Given the description of an element on the screen output the (x, y) to click on. 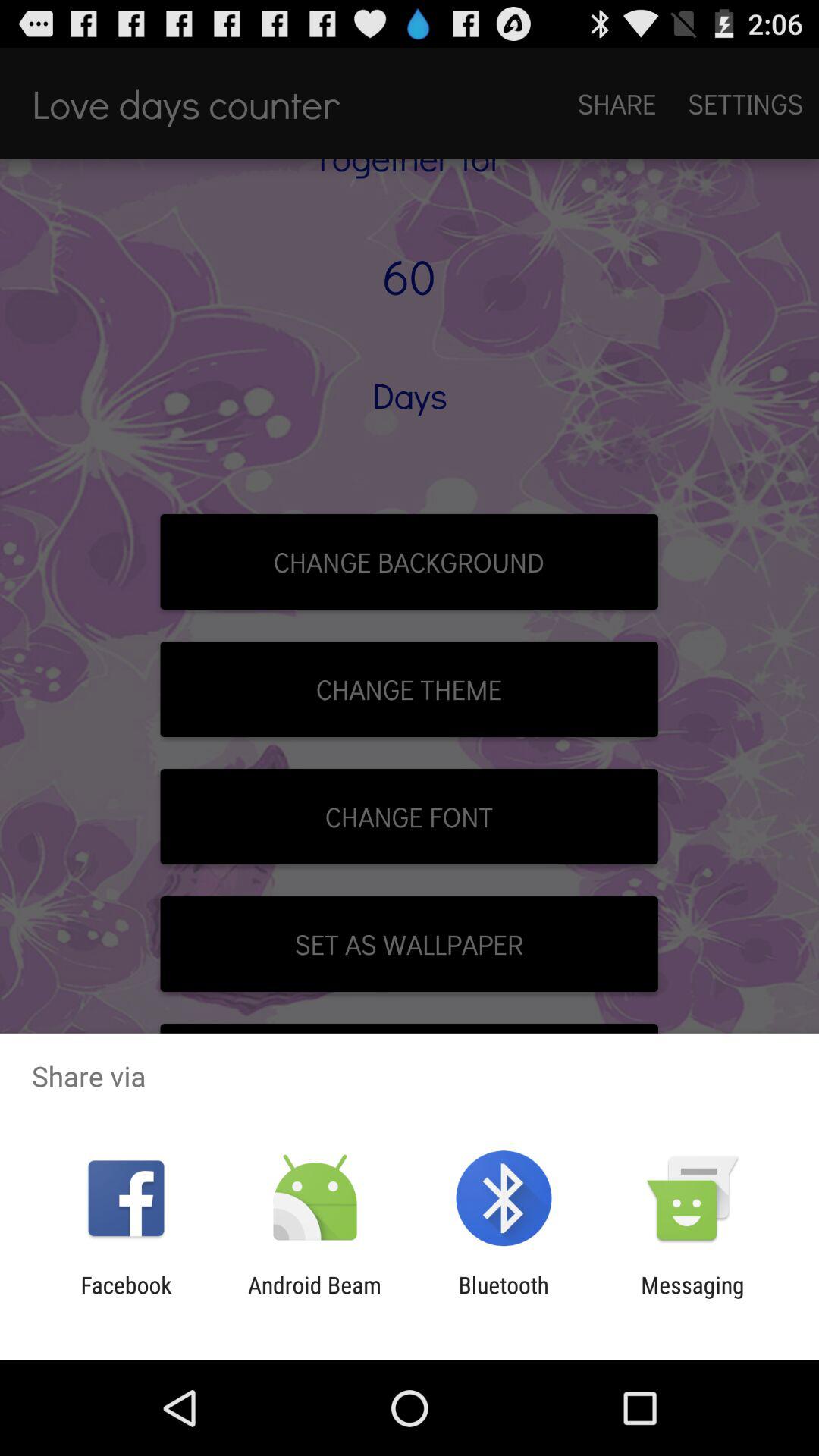
turn off the item to the right of bluetooth (692, 1298)
